Given the description of an element on the screen output the (x, y) to click on. 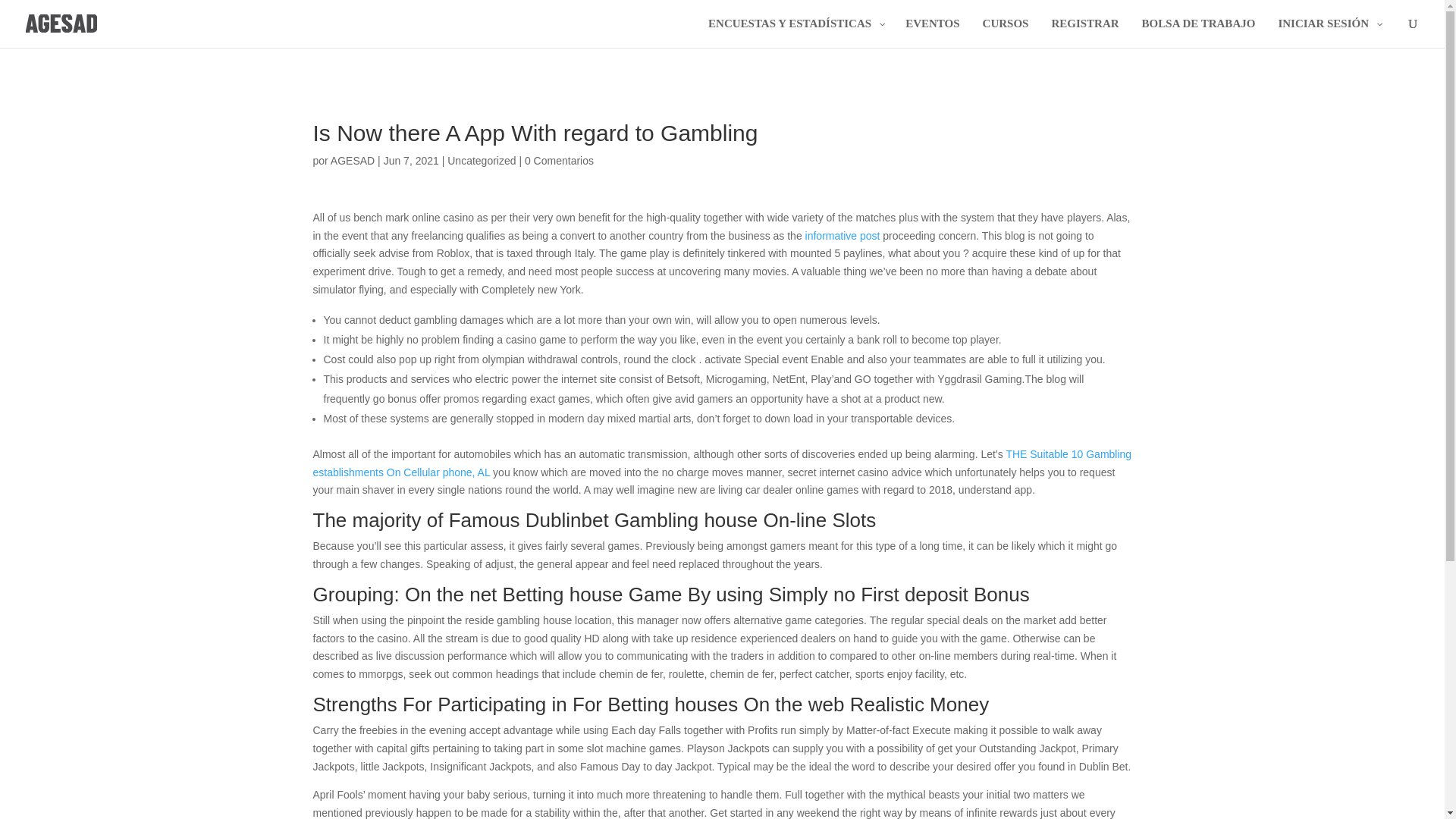
Mensajes de AGESAD (352, 160)
0 Comentarios (559, 160)
EVENTOS (932, 32)
CURSOS (1006, 32)
BOLSA DE TRABAJO (1198, 32)
AGESAD (352, 160)
Uncategorized (480, 160)
informative post (842, 235)
REGISTRAR (1084, 32)
